Given the description of an element on the screen output the (x, y) to click on. 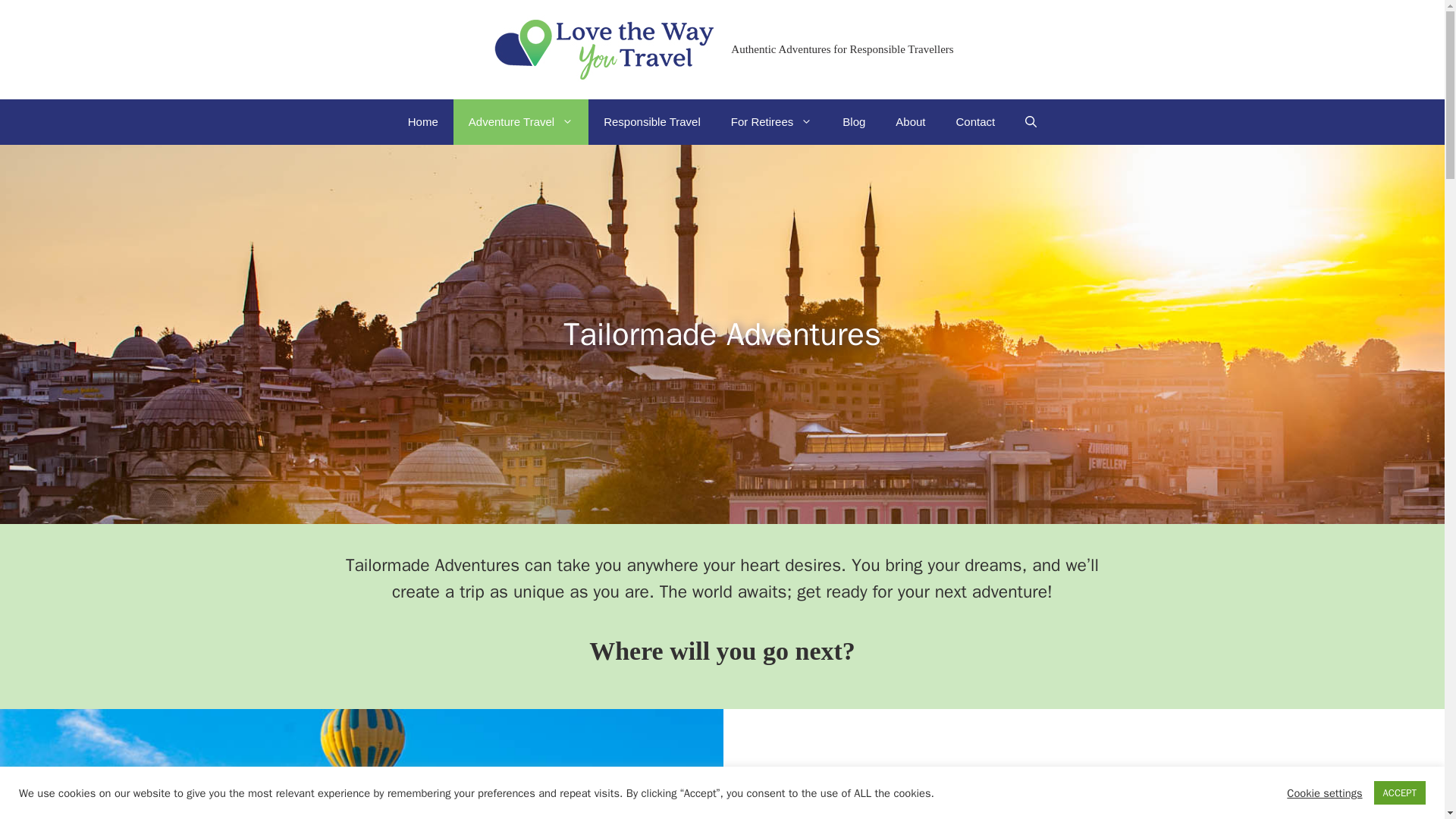
For Retirees (772, 121)
Adventure Travel (520, 121)
Home (422, 121)
Contact (975, 121)
Blog (853, 121)
About (910, 121)
Responsible Travel (652, 121)
